Given the description of an element on the screen output the (x, y) to click on. 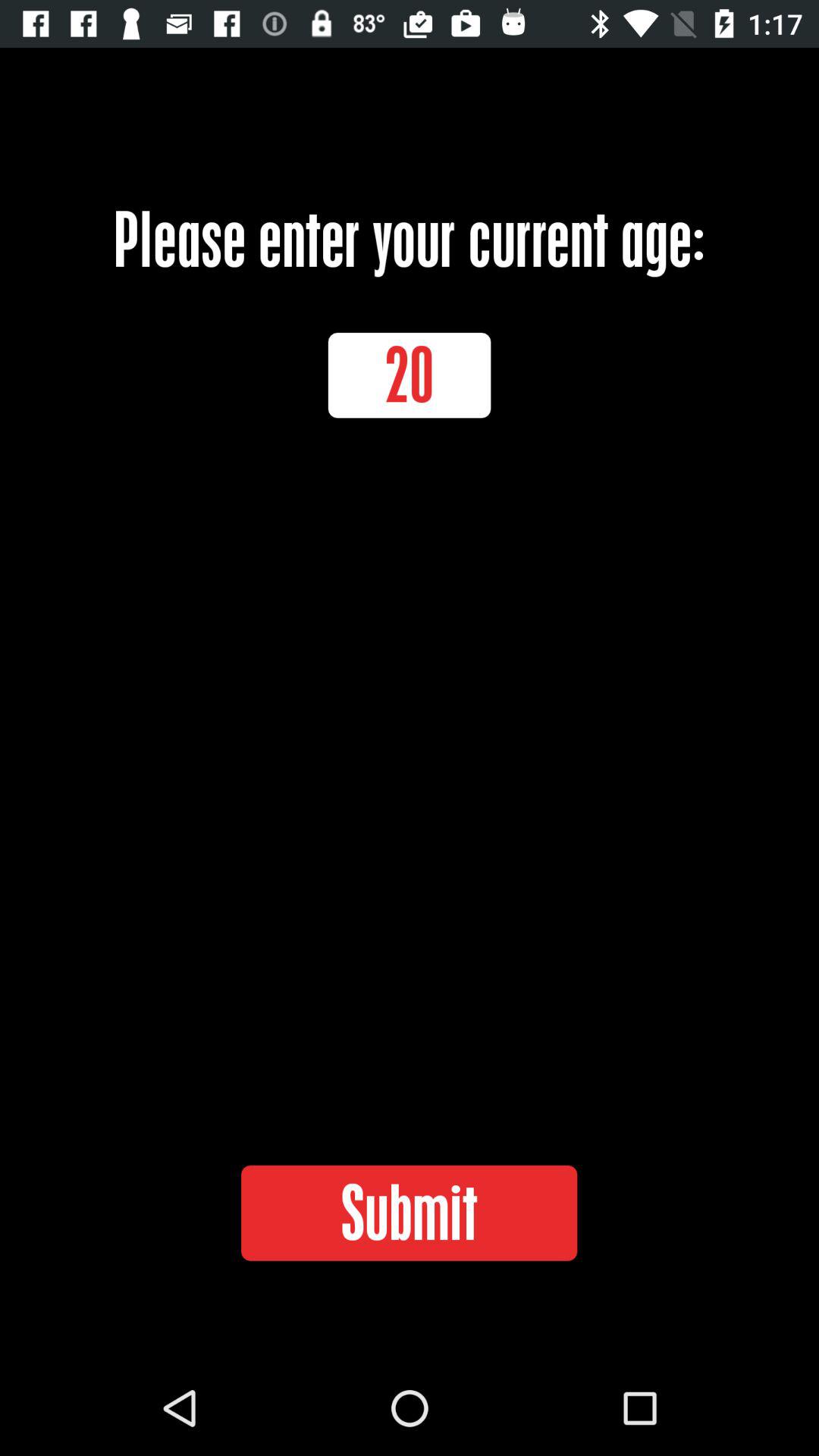
jump until 20 (409, 375)
